Given the description of an element on the screen output the (x, y) to click on. 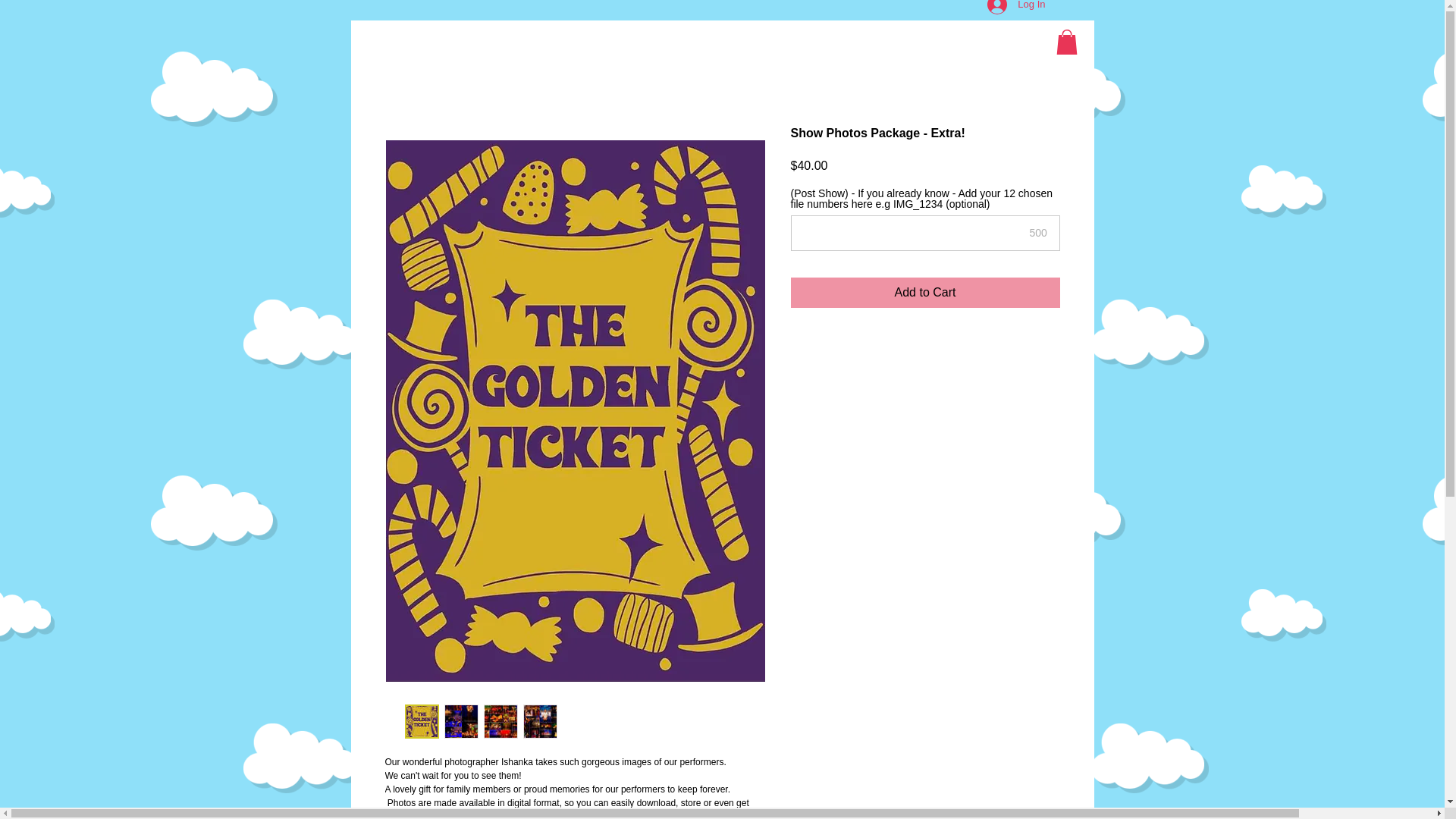
Log In (1015, 9)
Add to Cart (924, 292)
